Given the description of an element on the screen output the (x, y) to click on. 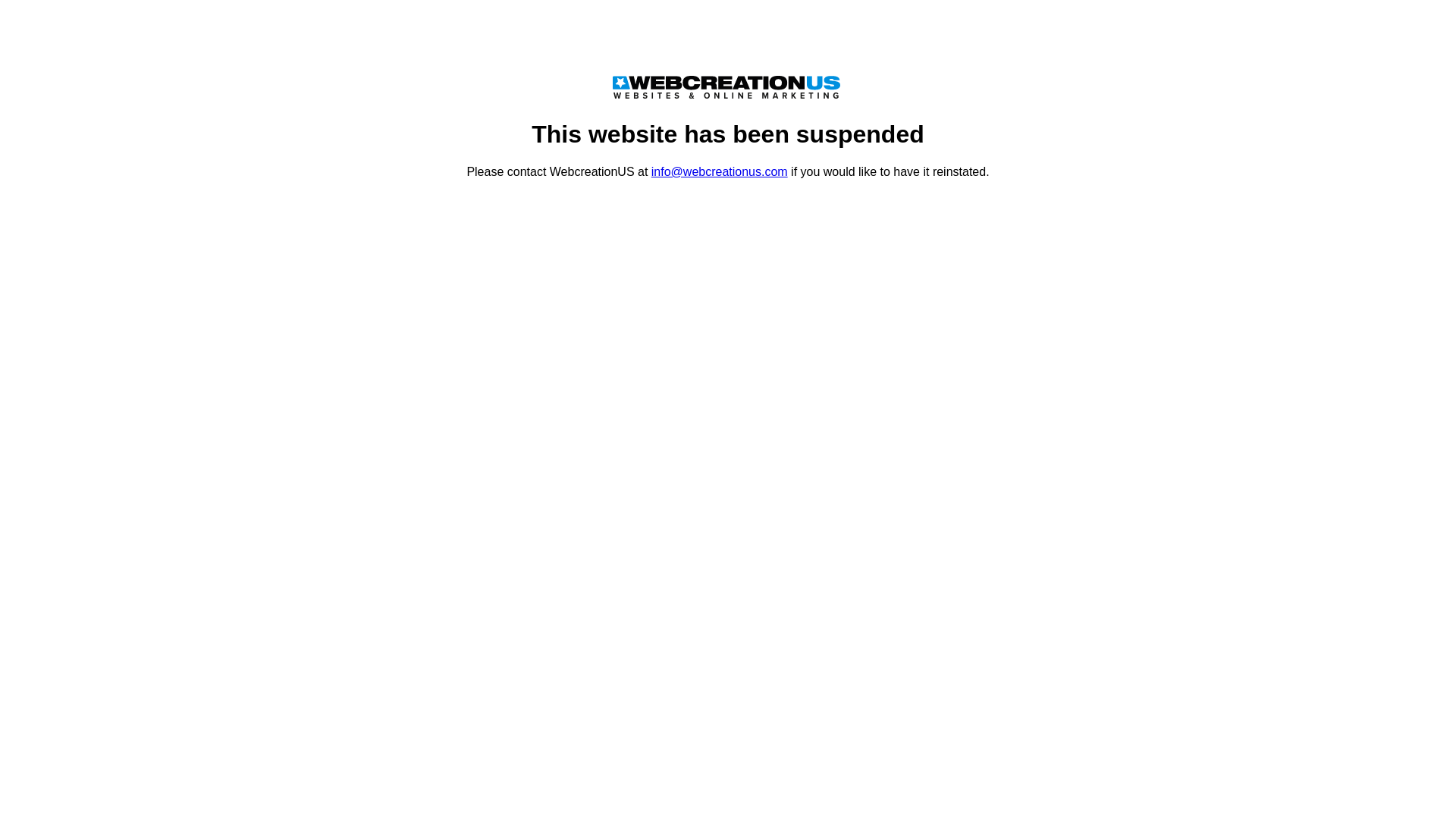
info@webcreationus.com Element type: text (719, 171)
